Given the description of an element on the screen output the (x, y) to click on. 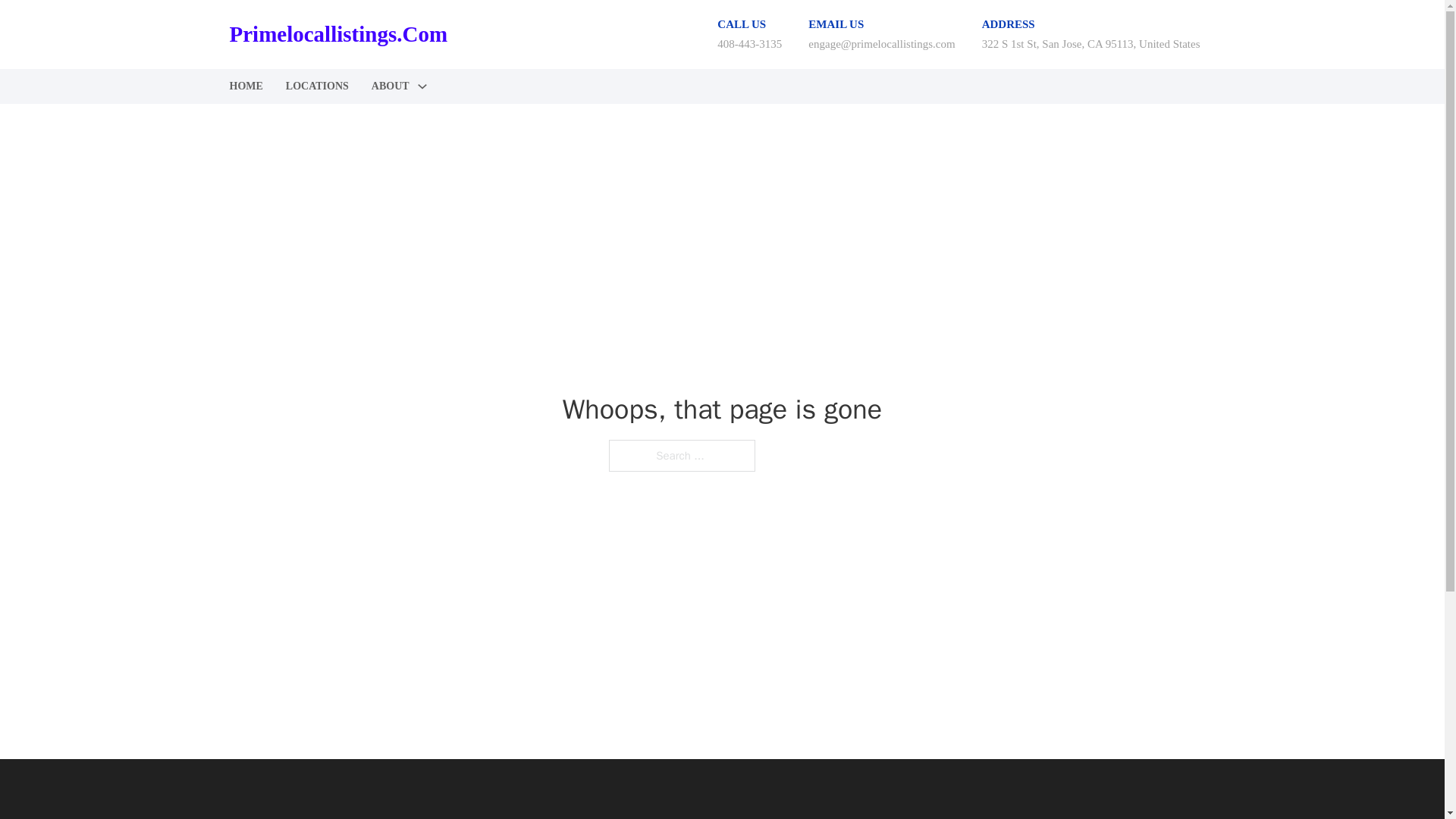
Primelocallistings.Com (337, 34)
LOCATIONS (317, 85)
408-443-3135 (749, 43)
HOME (245, 85)
